Given the description of an element on the screen output the (x, y) to click on. 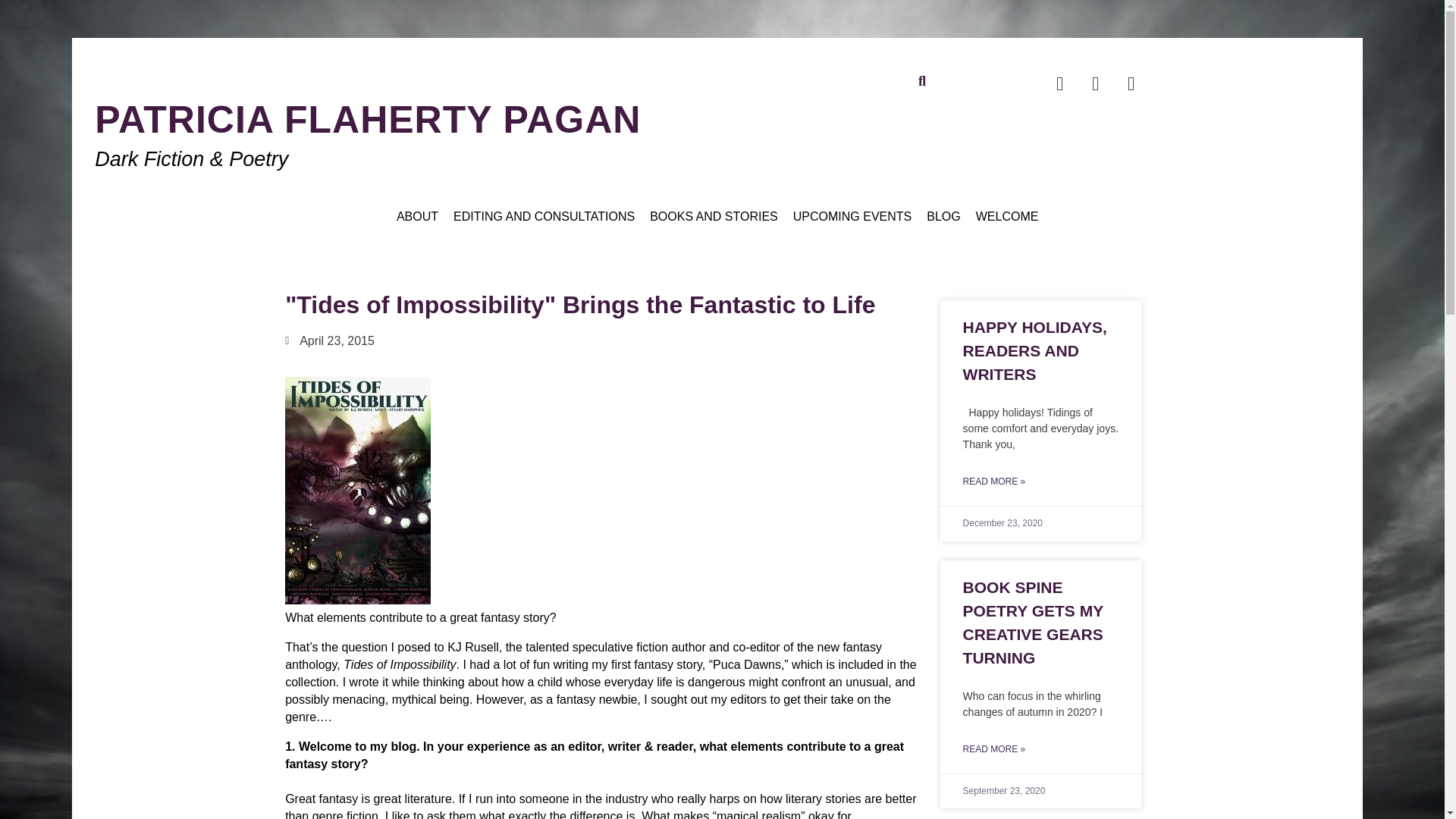
BOOK SPINE POETRY GETS MY CREATIVE GEARS TURNING (1032, 622)
PATRICIA FLAHERTY PAGAN (367, 119)
BLOG (943, 216)
BOOKS AND STORIES (714, 216)
HAPPY HOLIDAYS, READERS AND WRITERS (1034, 350)
April 23, 2015 (329, 340)
WELCOME (1007, 216)
UPCOMING EVENTS (852, 216)
ABOUT (416, 216)
EDITING AND CONSULTATIONS (543, 216)
